Given the description of an element on the screen output the (x, y) to click on. 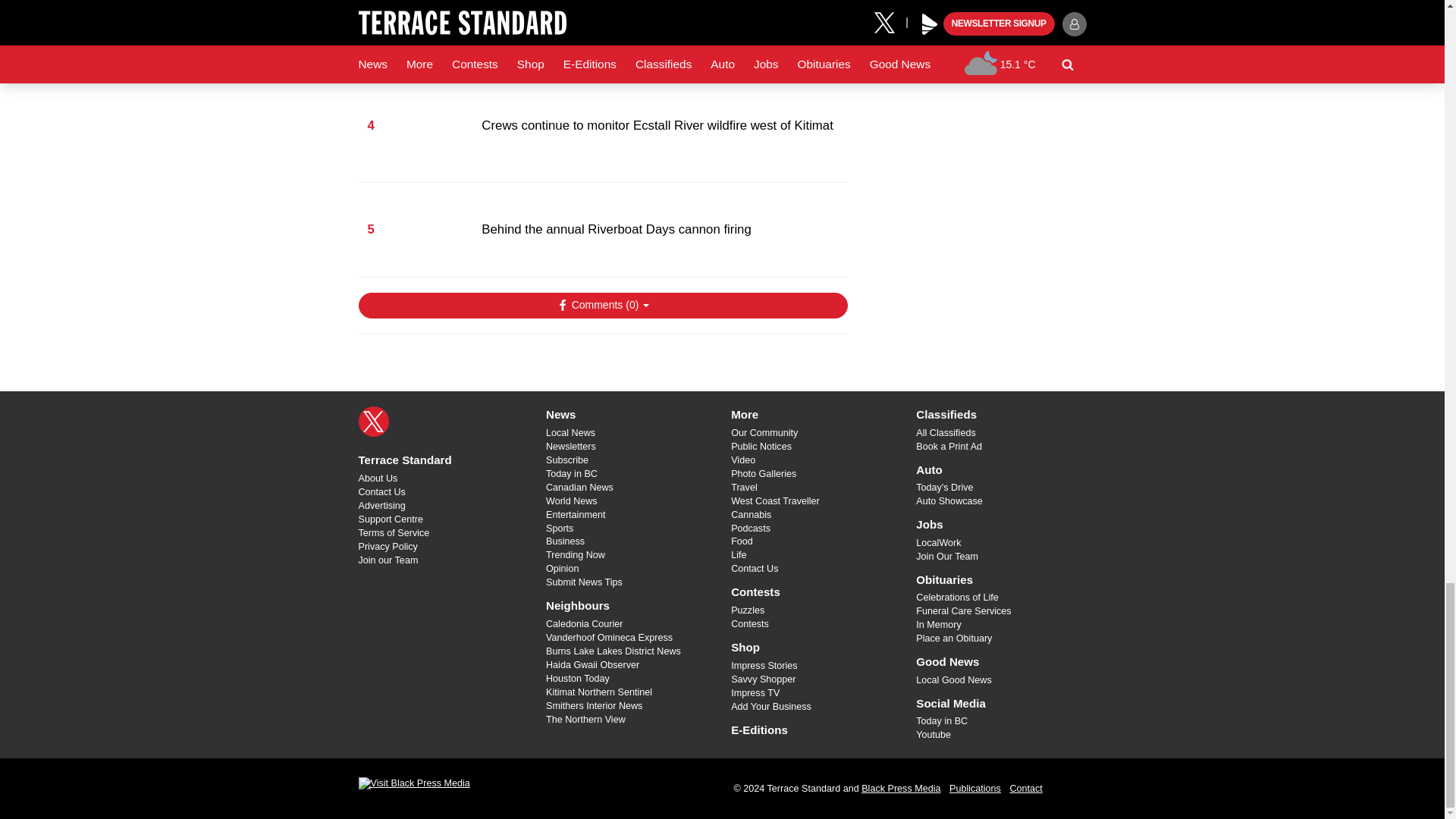
Show Comments (602, 305)
X (373, 421)
